Given the description of an element on the screen output the (x, y) to click on. 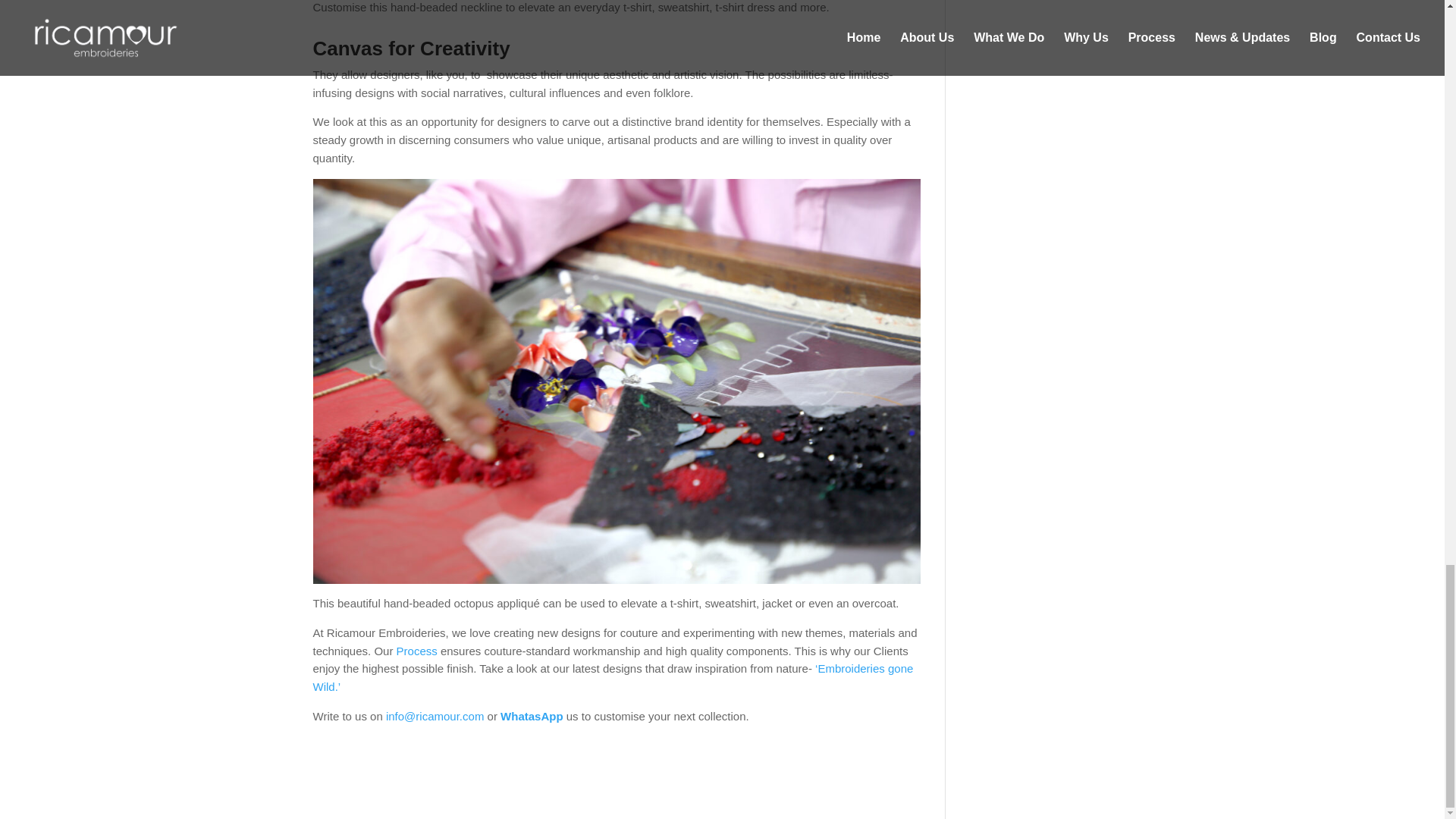
 Process (414, 650)
WhatasApp (531, 716)
